Given the description of an element on the screen output the (x, y) to click on. 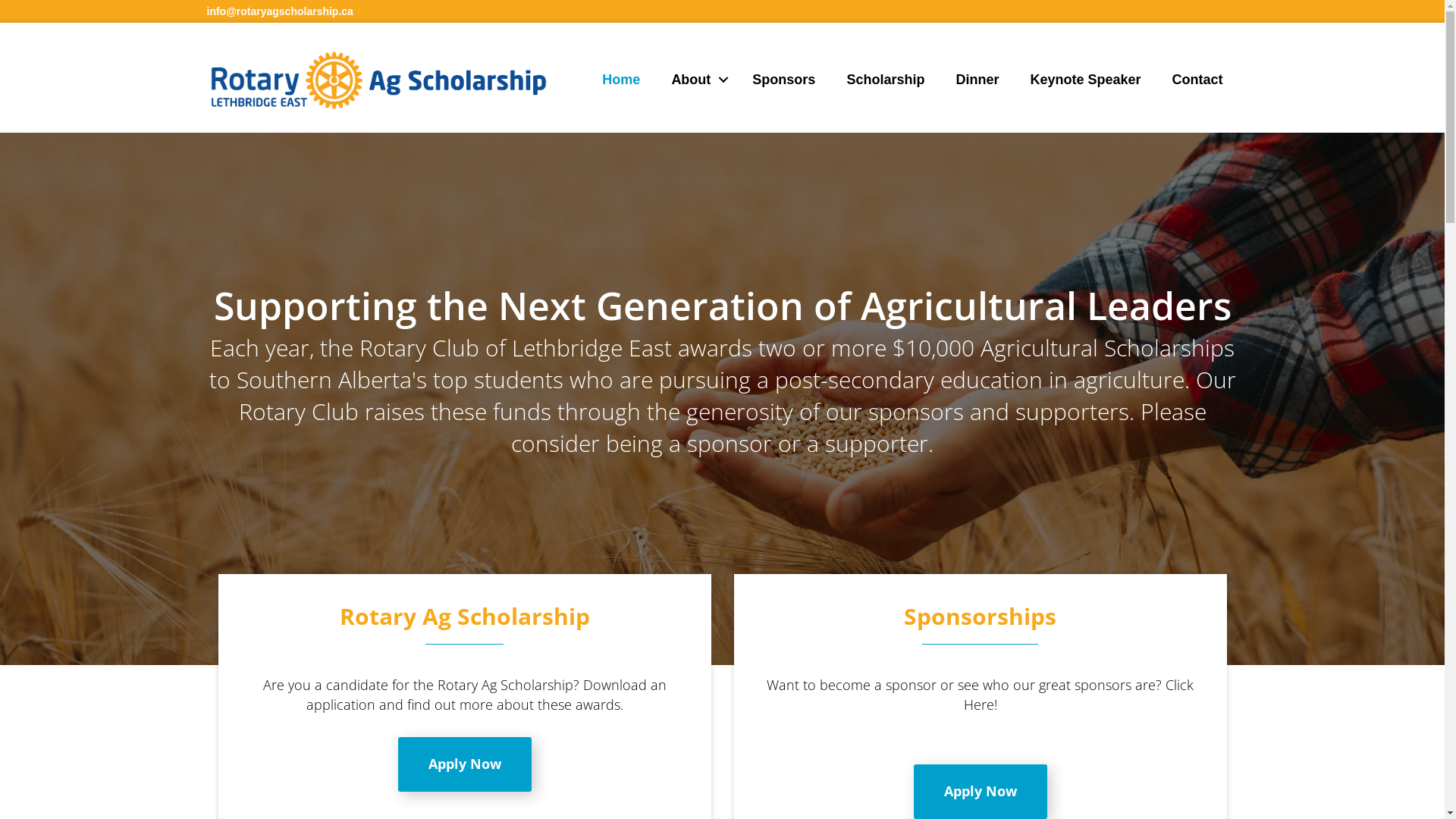
info@rotaryagscholarship.ca Element type: text (279, 11)
Dinner Element type: text (976, 79)
Rotary Ag Scholarship Element type: text (464, 615)
Home Element type: text (620, 79)
Sponsorships Element type: text (979, 615)
About Element type: text (695, 79)
Scholarship Element type: text (885, 79)
Contact Element type: text (1197, 79)
Keynote Speaker Element type: text (1084, 79)
Apply Now Element type: text (463, 764)
rotaryMBS-Leth.East-CMYK-printv2-sept.2022 Element type: hover (377, 79)
Sponsors Element type: text (783, 79)
